Given the description of an element on the screen output the (x, y) to click on. 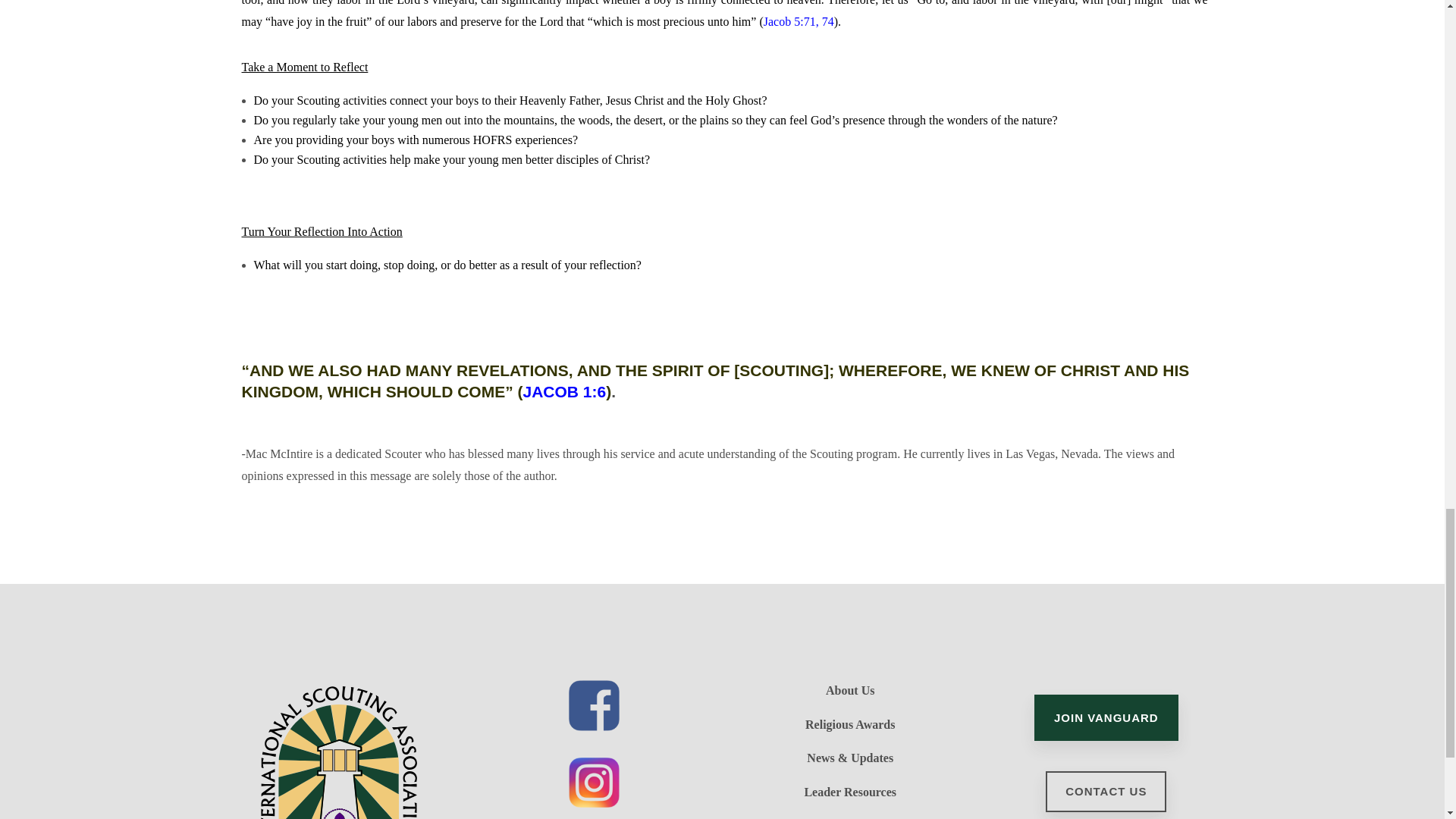
Jacob 5:71, 74 (798, 21)
Leader Resources (849, 791)
Instagram Icon (594, 782)
JACOB 1:6 (563, 391)
Facebook Icon (594, 705)
JOIN VANGUARD (1105, 718)
About Us (850, 689)
CONTACT US (1105, 791)
Religious Awards (850, 724)
Vanguard Logo-Color (337, 749)
